Given the description of an element on the screen output the (x, y) to click on. 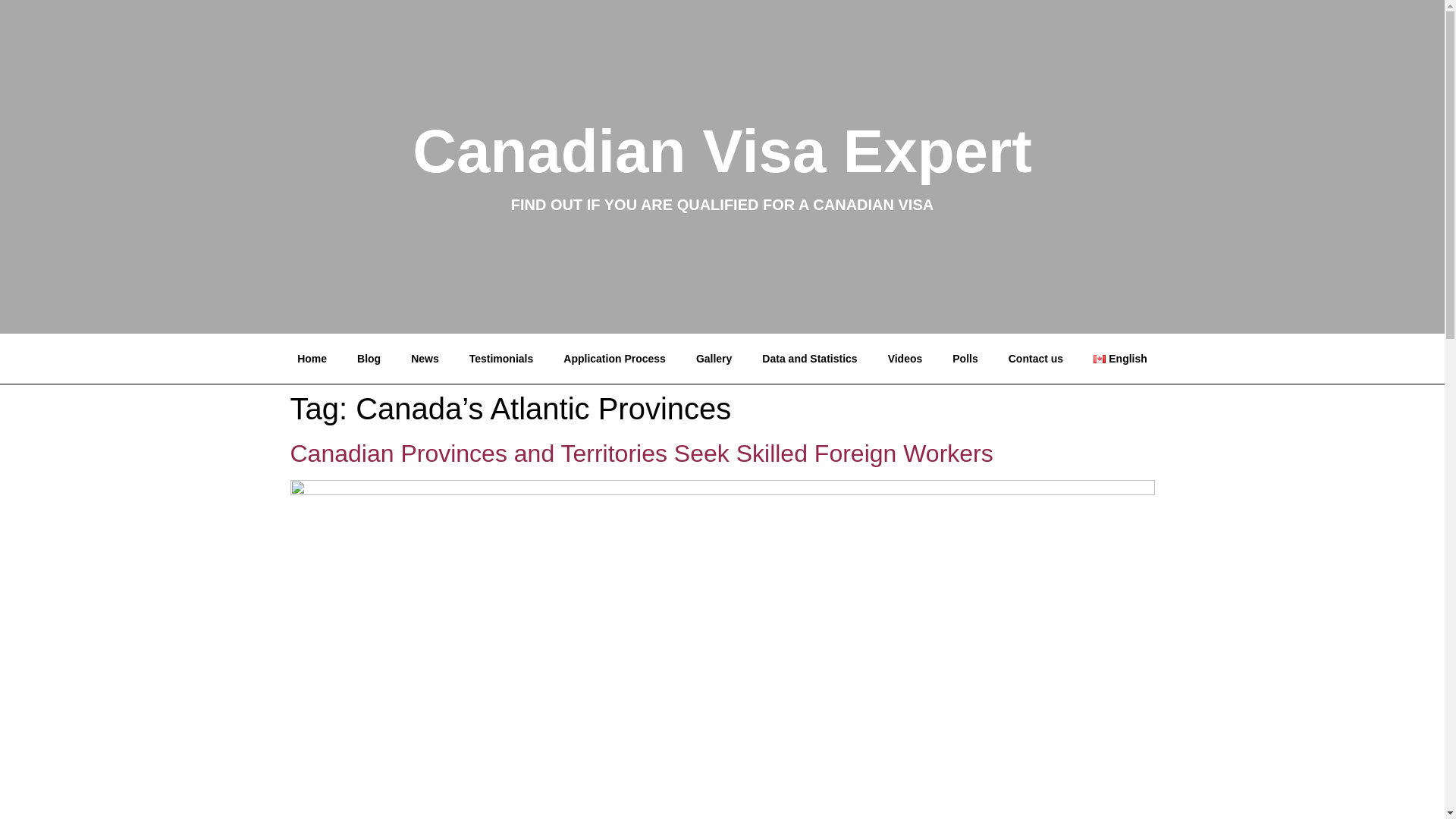
English (1119, 358)
Home (312, 358)
Gallery (713, 358)
Blog (369, 358)
Canadian Visa Expert (722, 151)
Data and Statistics (809, 358)
Application Process (614, 358)
Videos (904, 358)
Polls (964, 358)
Contact us (1035, 358)
